Given the description of an element on the screen output the (x, y) to click on. 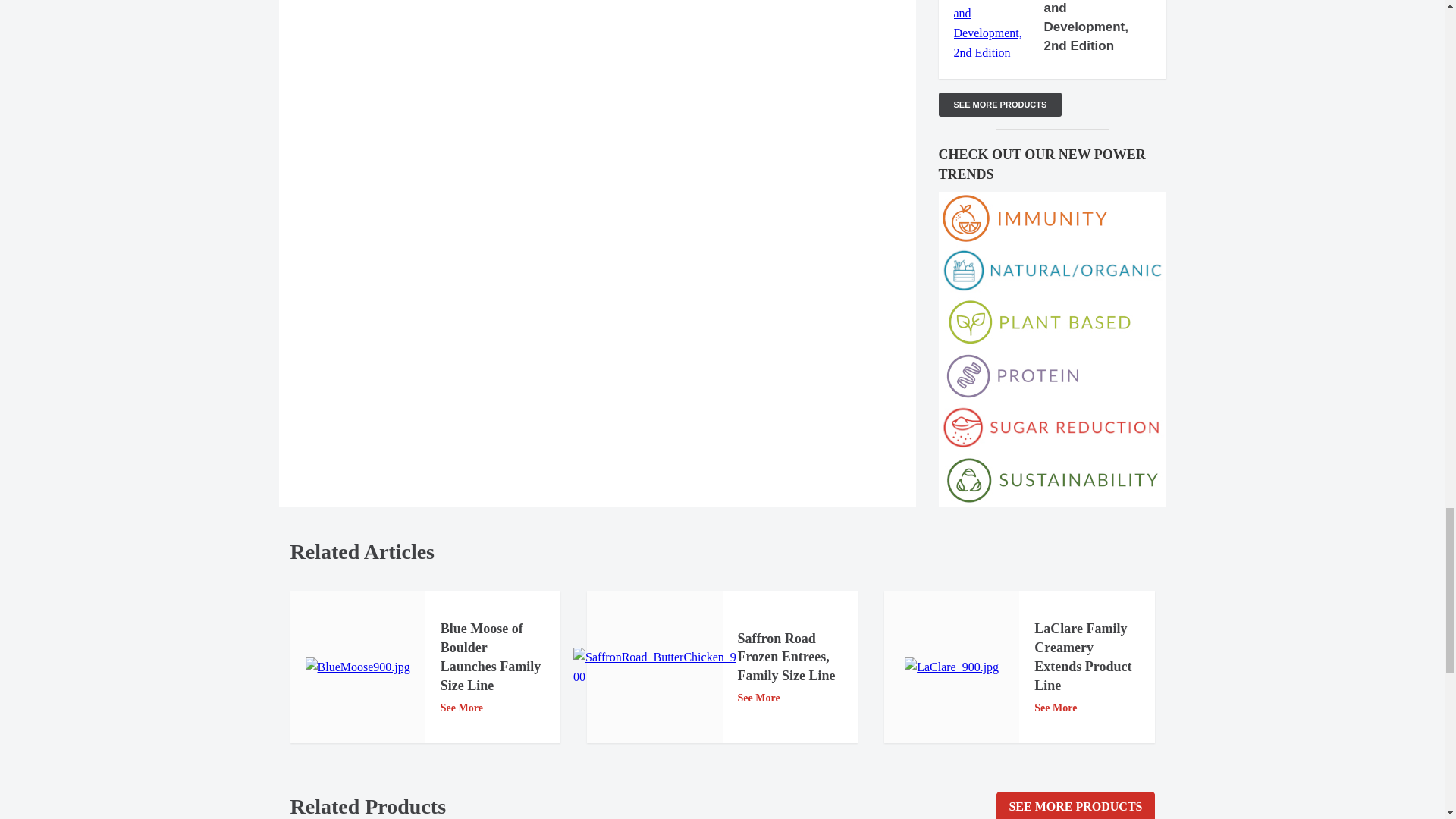
BlueMoose900.jpg (357, 667)
